Given the description of an element on the screen output the (x, y) to click on. 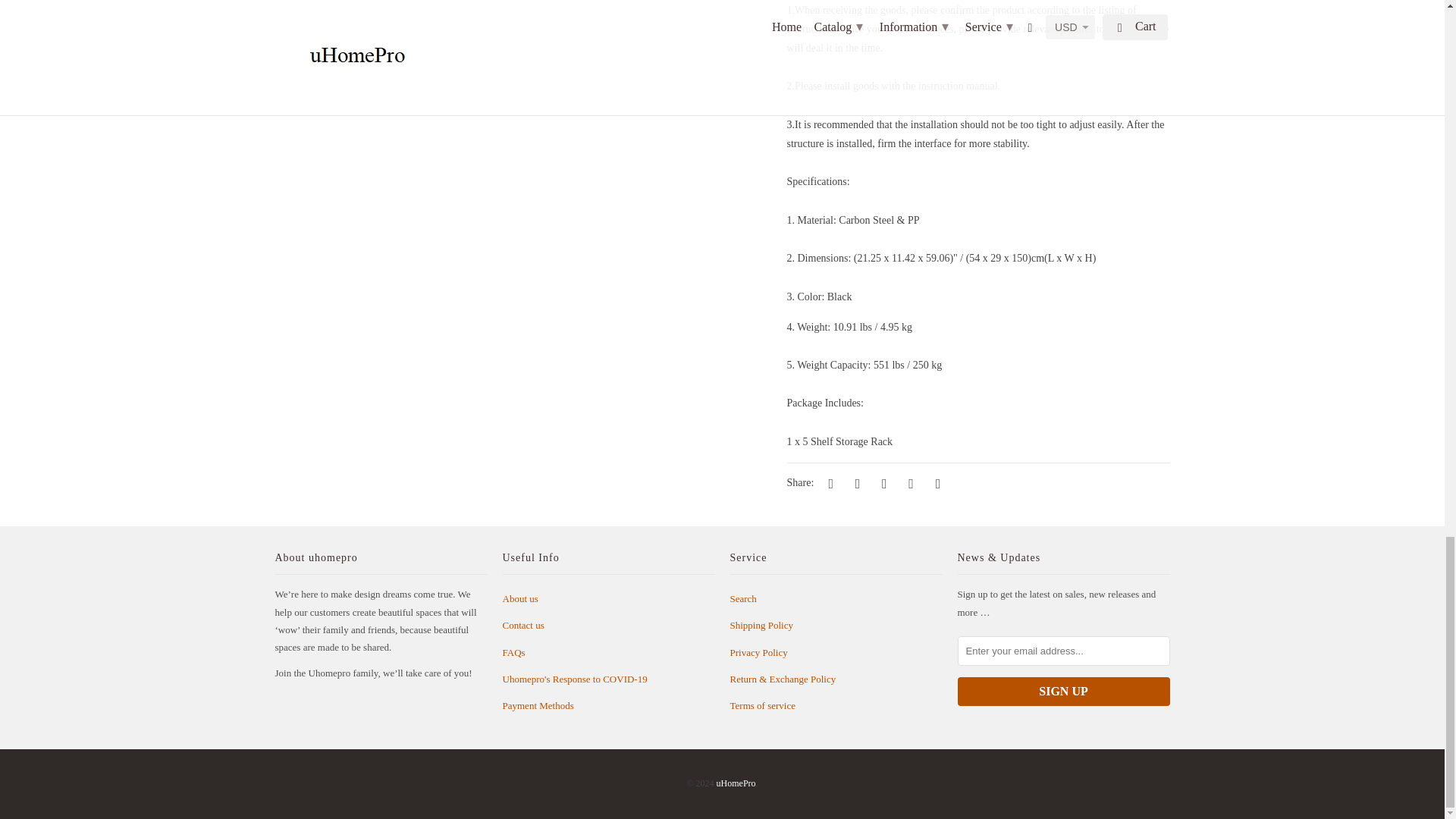
Share this on Facebook (855, 482)
Share this on Twitter (828, 482)
Sign Up (1062, 691)
Share this on Pinterest (881, 482)
Email this to a friend (935, 482)
